Given the description of an element on the screen output the (x, y) to click on. 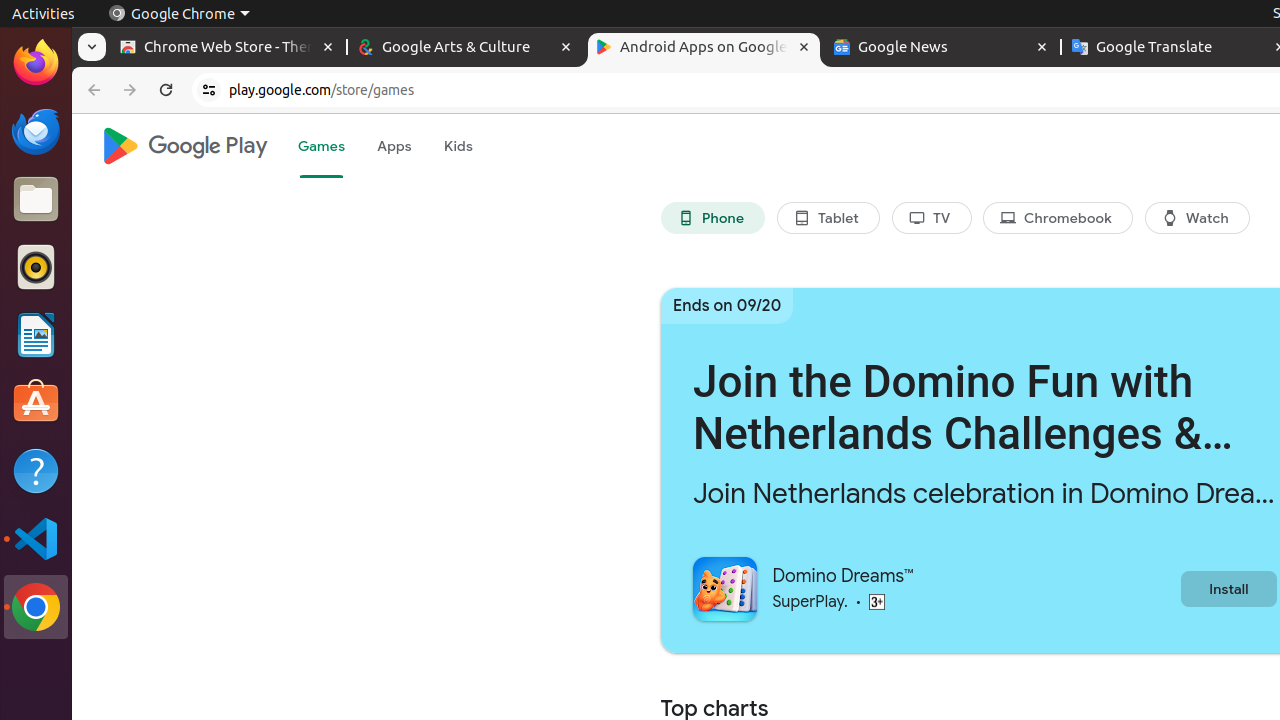
Android Apps on Google Play Element type: page-tab (704, 47)
Google Chrome Element type: push-button (36, 607)
Visual Studio Code Element type: push-button (36, 538)
Files Element type: push-button (36, 199)
Kids Element type: page-tab (458, 146)
